Given the description of an element on the screen output the (x, y) to click on. 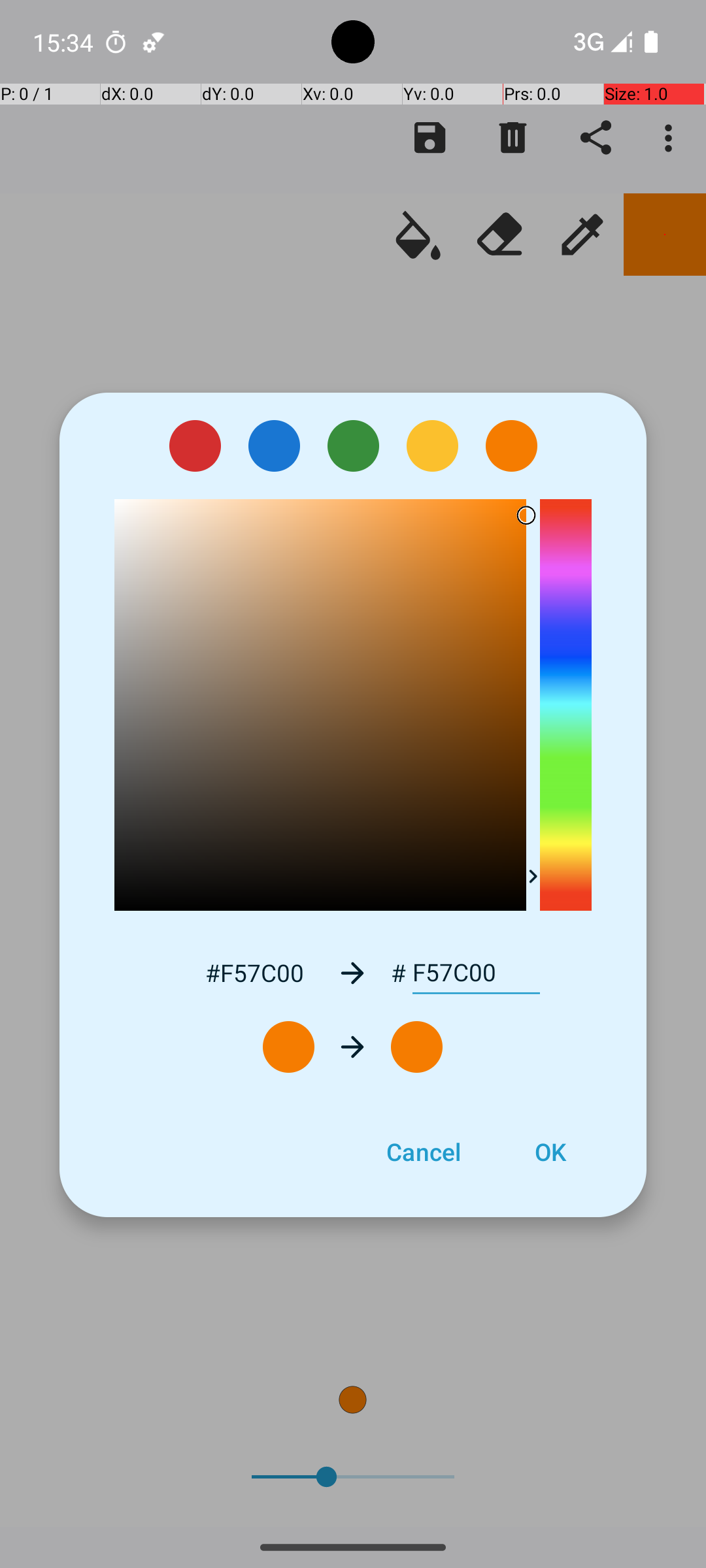
F57C00 Element type: android.widget.EditText (475, 972)
Android System notification: Wi‑Fi will turn on automatically Element type: android.widget.ImageView (153, 41)
